Given the description of an element on the screen output the (x, y) to click on. 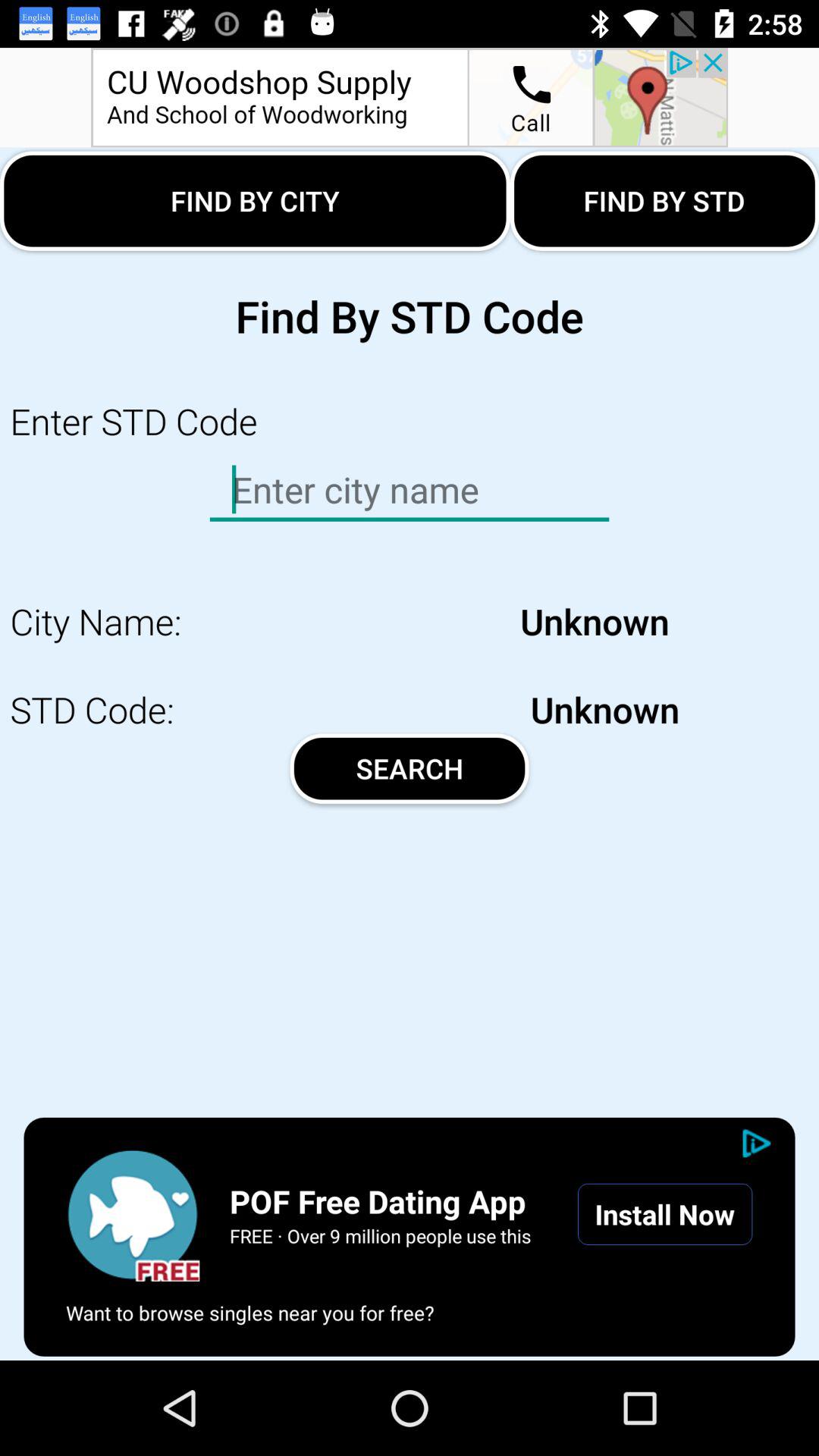
go to location option (409, 97)
